Given the description of an element on the screen output the (x, y) to click on. 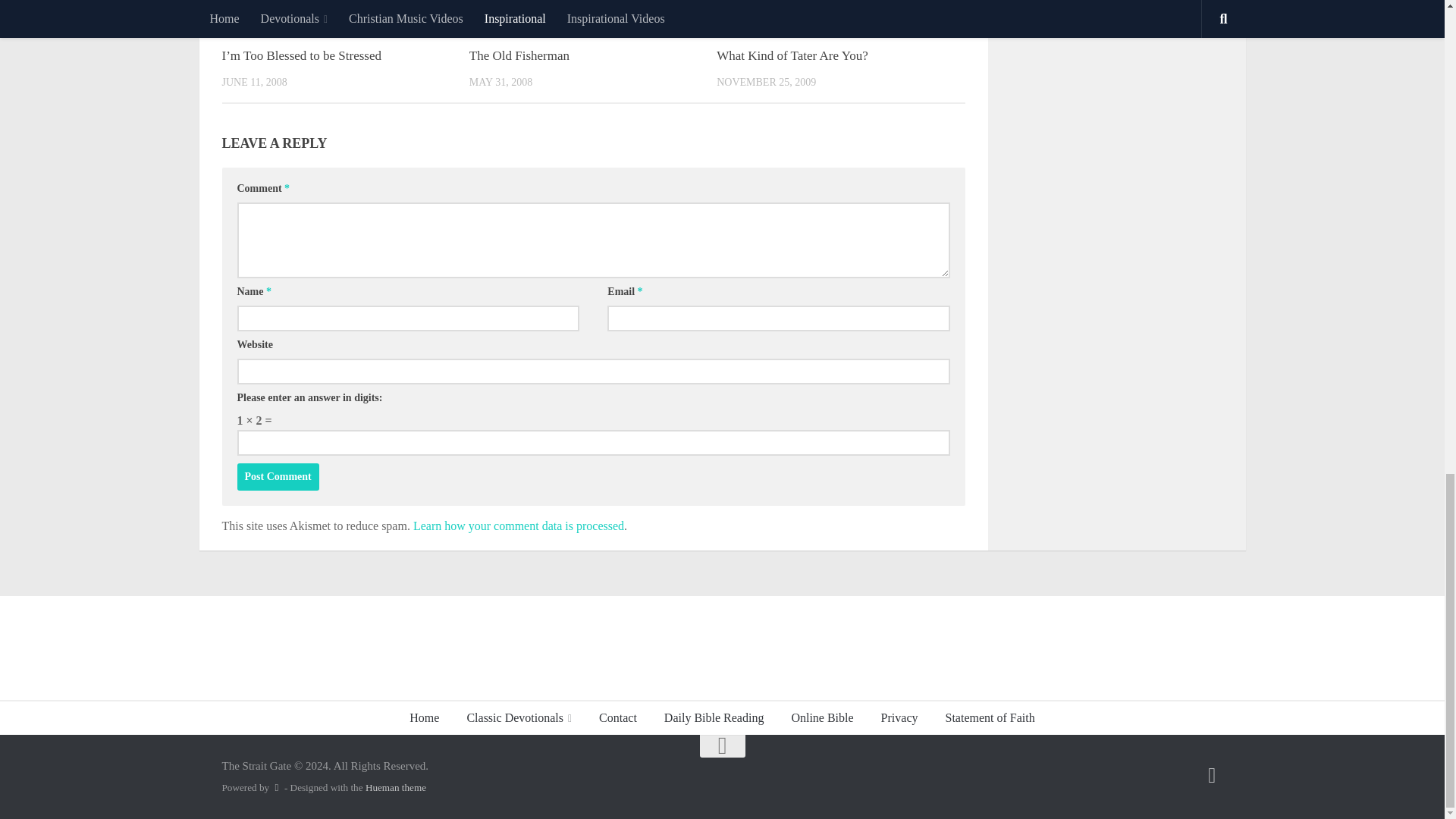
Follow us on Facebook (1212, 775)
The Old Fisherman (518, 55)
What Kind of Tater Are You? (791, 55)
Hueman theme (395, 787)
Post Comment (276, 476)
Post Comment (276, 476)
Learn how your comment data is processed (518, 525)
Powered by WordPress (275, 787)
